Given the description of an element on the screen output the (x, y) to click on. 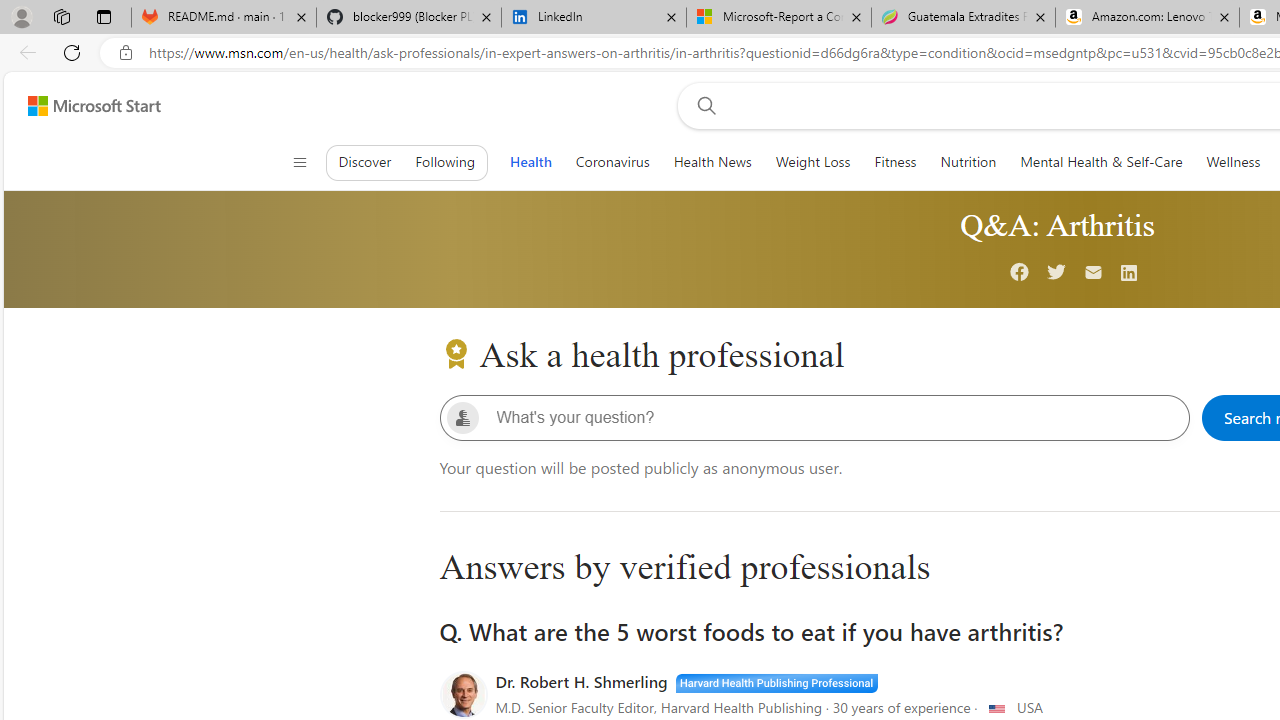
Mental Health & Self-Care (1101, 161)
Coronavirus (612, 161)
doctorIconRound (463, 695)
Flag image of USA (996, 708)
Health News (711, 161)
Weight Loss (812, 161)
Class: control icon-only (299, 162)
Fitness (895, 161)
